Given the description of an element on the screen output the (x, y) to click on. 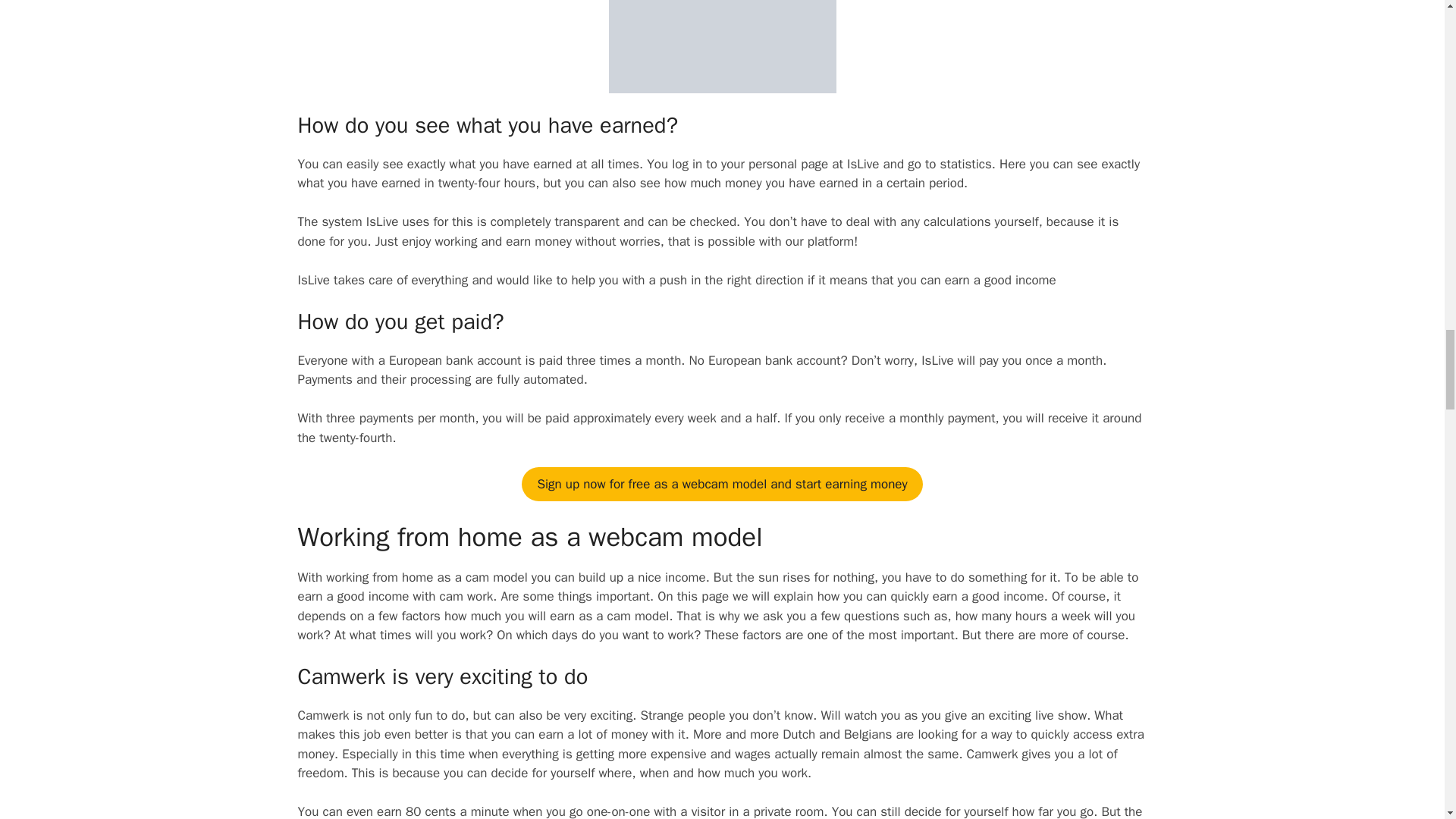
Become a webcam model (721, 484)
